Given the description of an element on the screen output the (x, y) to click on. 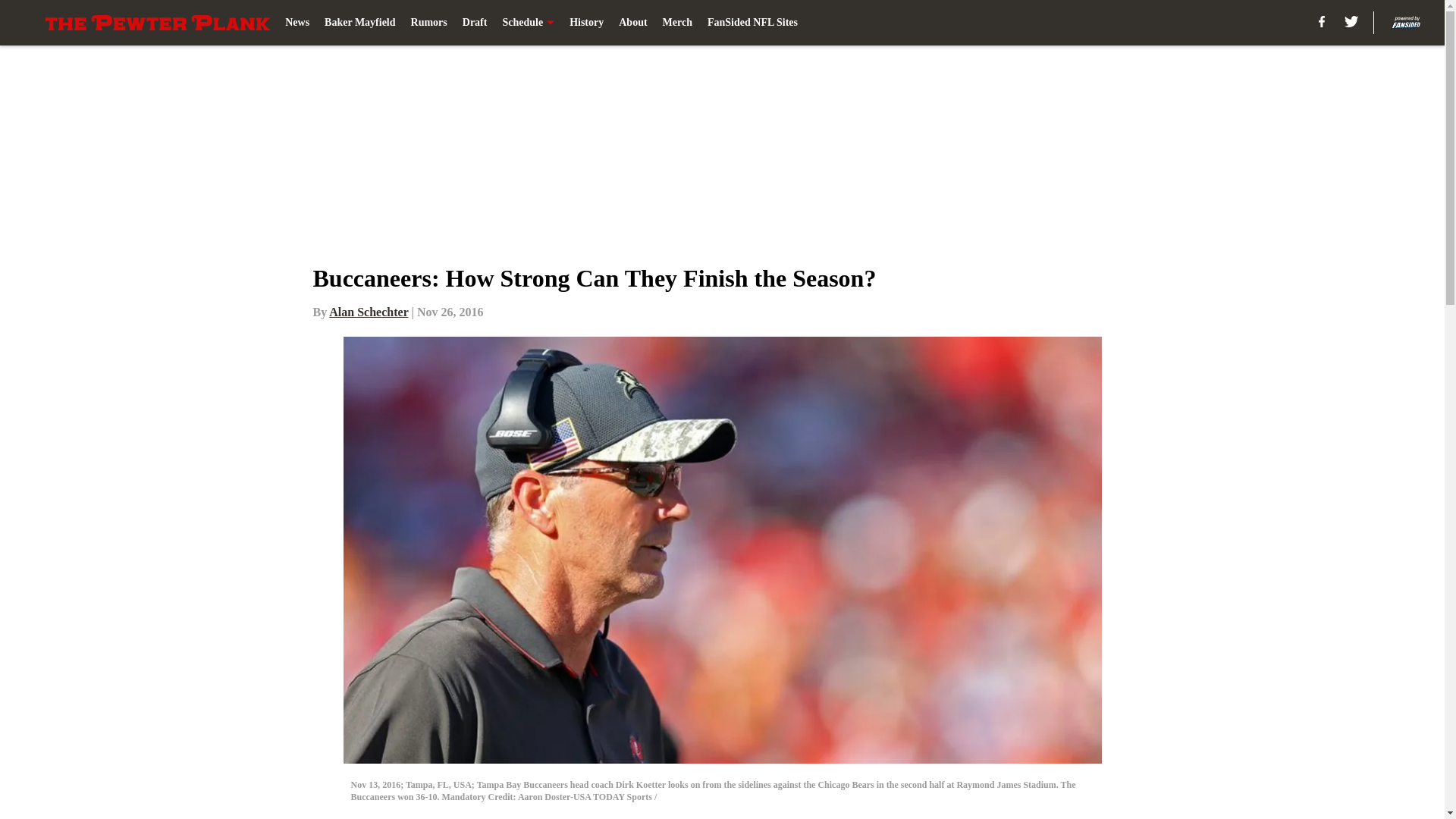
Baker Mayfield (359, 22)
Merch (677, 22)
Rumors (428, 22)
History (586, 22)
News (296, 22)
Alan Schechter (368, 311)
FanSided NFL Sites (752, 22)
Draft (475, 22)
About (632, 22)
